Given the description of an element on the screen output the (x, y) to click on. 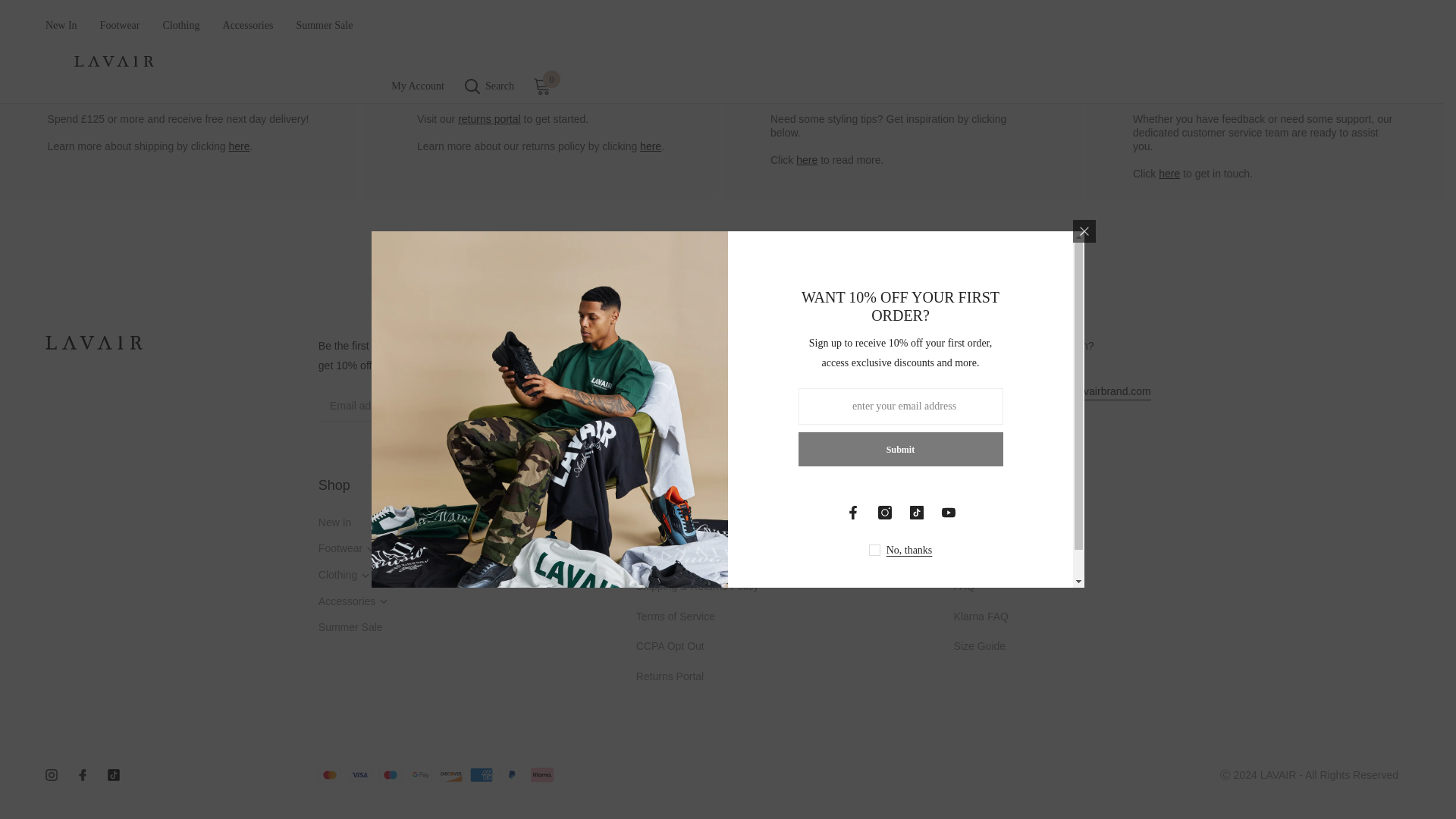
Footwear (377, 546)
